Given the description of an element on the screen output the (x, y) to click on. 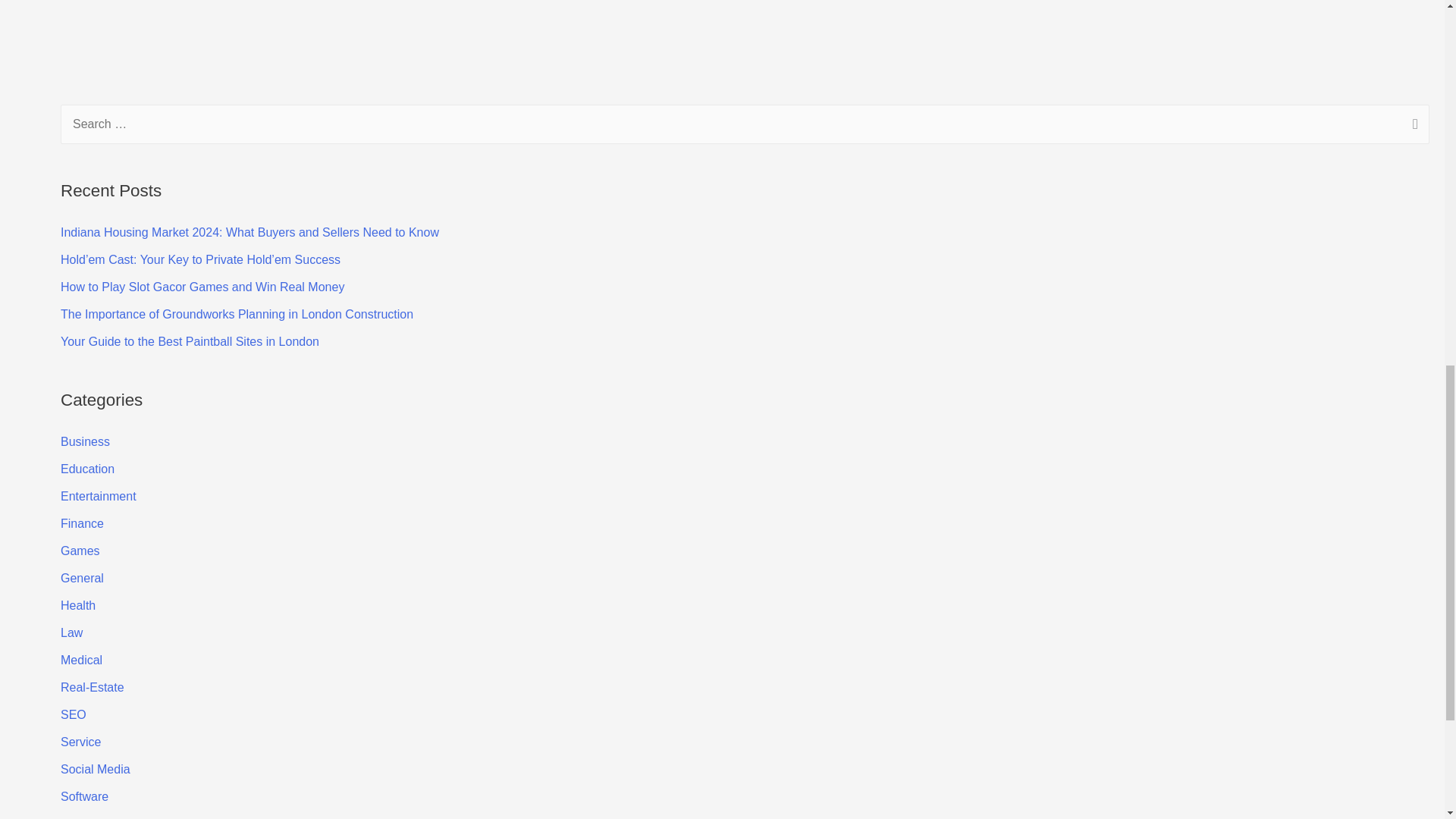
Social Media (96, 768)
Your Guide to the Best Paintball Sites in London (189, 341)
Law (71, 632)
General (82, 577)
Education (88, 468)
Software (84, 796)
Business (85, 440)
SEO (73, 714)
Entertainment (98, 495)
Finance (82, 522)
Real-Estate (92, 686)
Medical (81, 659)
Games (80, 550)
